Given the description of an element on the screen output the (x, y) to click on. 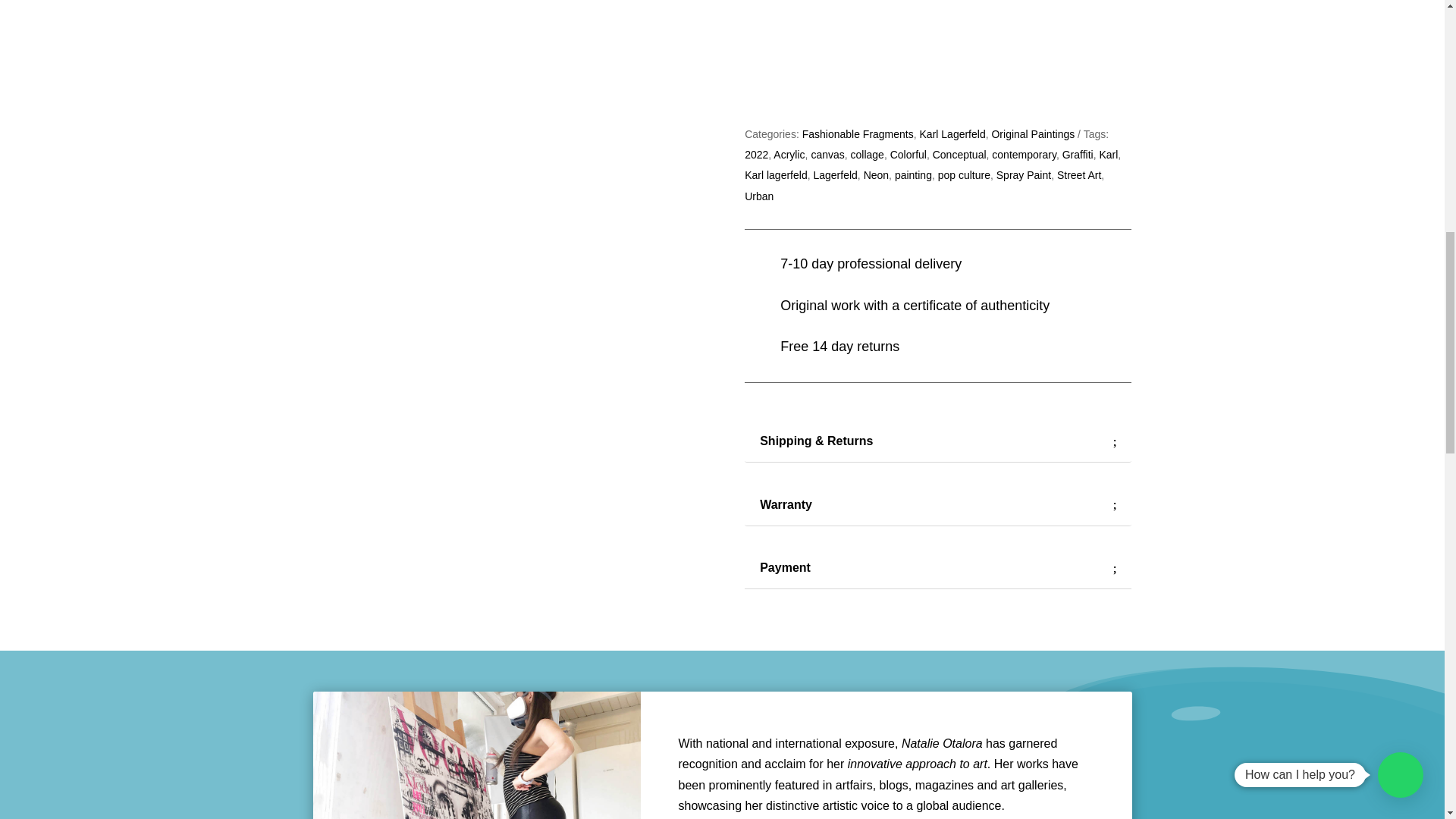
canvas (827, 154)
Original Paintings (1032, 133)
Fashionable Fragments (858, 133)
Acrylic (789, 154)
Karl Lagerfeld (952, 133)
2022 (756, 154)
